Given the description of an element on the screen output the (x, y) to click on. 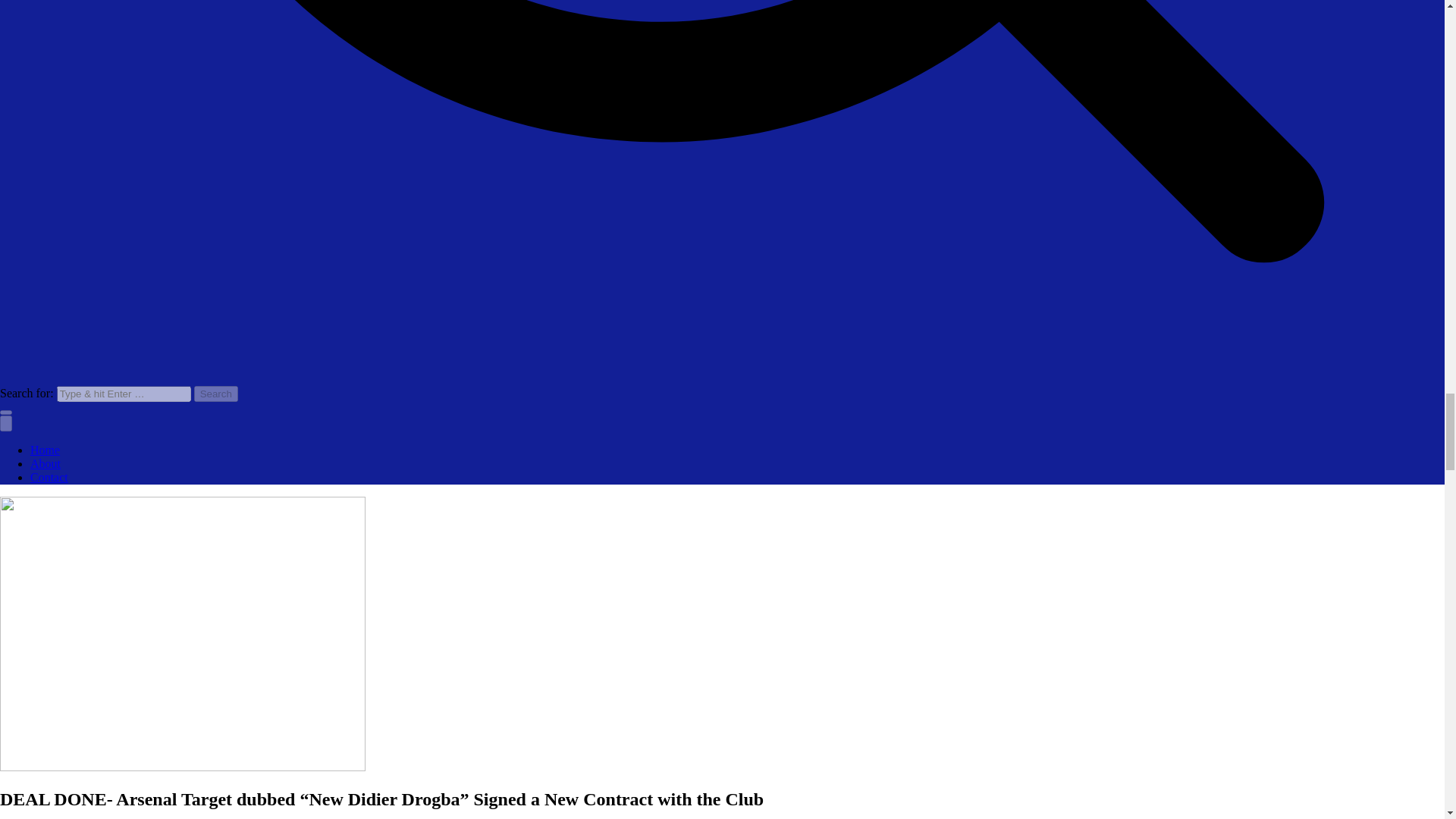
Search (215, 393)
Search (215, 393)
About (45, 463)
Search for: (123, 393)
Contact (49, 477)
Search (215, 393)
Home (44, 449)
